Given the description of an element on the screen output the (x, y) to click on. 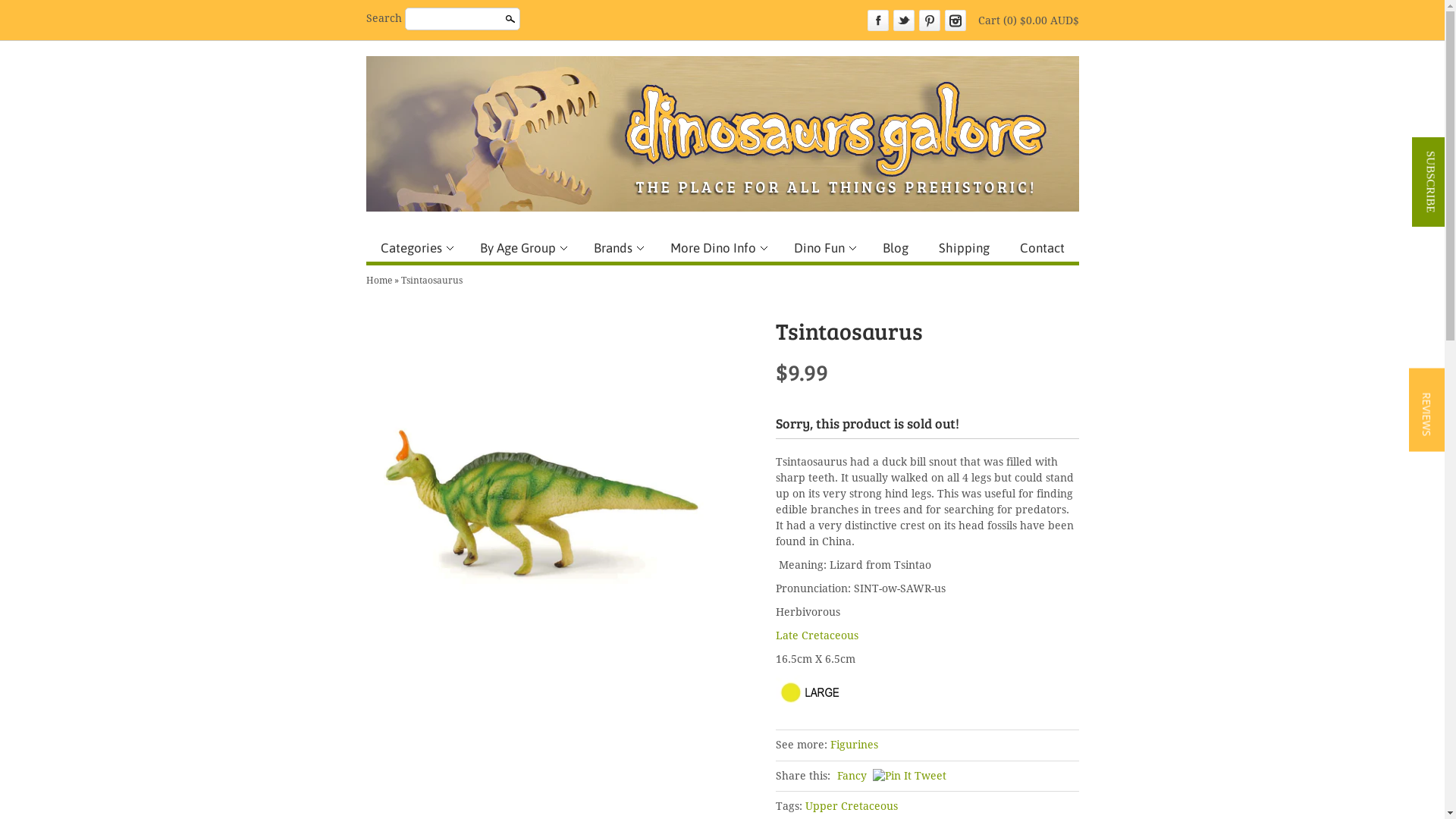
Upper Cretaceous Element type: text (851, 806)
Pinterest Element type: text (929, 20)
Dinosaurs Galore Element type: hover (721, 133)
Tweet Element type: text (930, 775)
Instagram Element type: text (955, 20)
Blog Element type: text (894, 247)
Late Cretaceous Element type: text (816, 635)
More Dino Info Element type: text (715, 247)
Dino Fun Element type: text (823, 247)
Fancy Element type: text (851, 775)
Facebook Element type: text (877, 20)
Home Element type: text (378, 280)
By Age Group Element type: text (521, 247)
Tsintaosaurus Element type: text (430, 280)
Contact Element type: text (1042, 247)
Figurines Element type: text (853, 744)
Cart (0) $0.00 AUD$ Element type: text (1028, 20)
Twitter Element type: text (903, 20)
Pin It Element type: hover (891, 776)
Categories Element type: text (414, 247)
Brands Element type: text (616, 247)
Shipping Element type: text (963, 247)
